Given the description of an element on the screen output the (x, y) to click on. 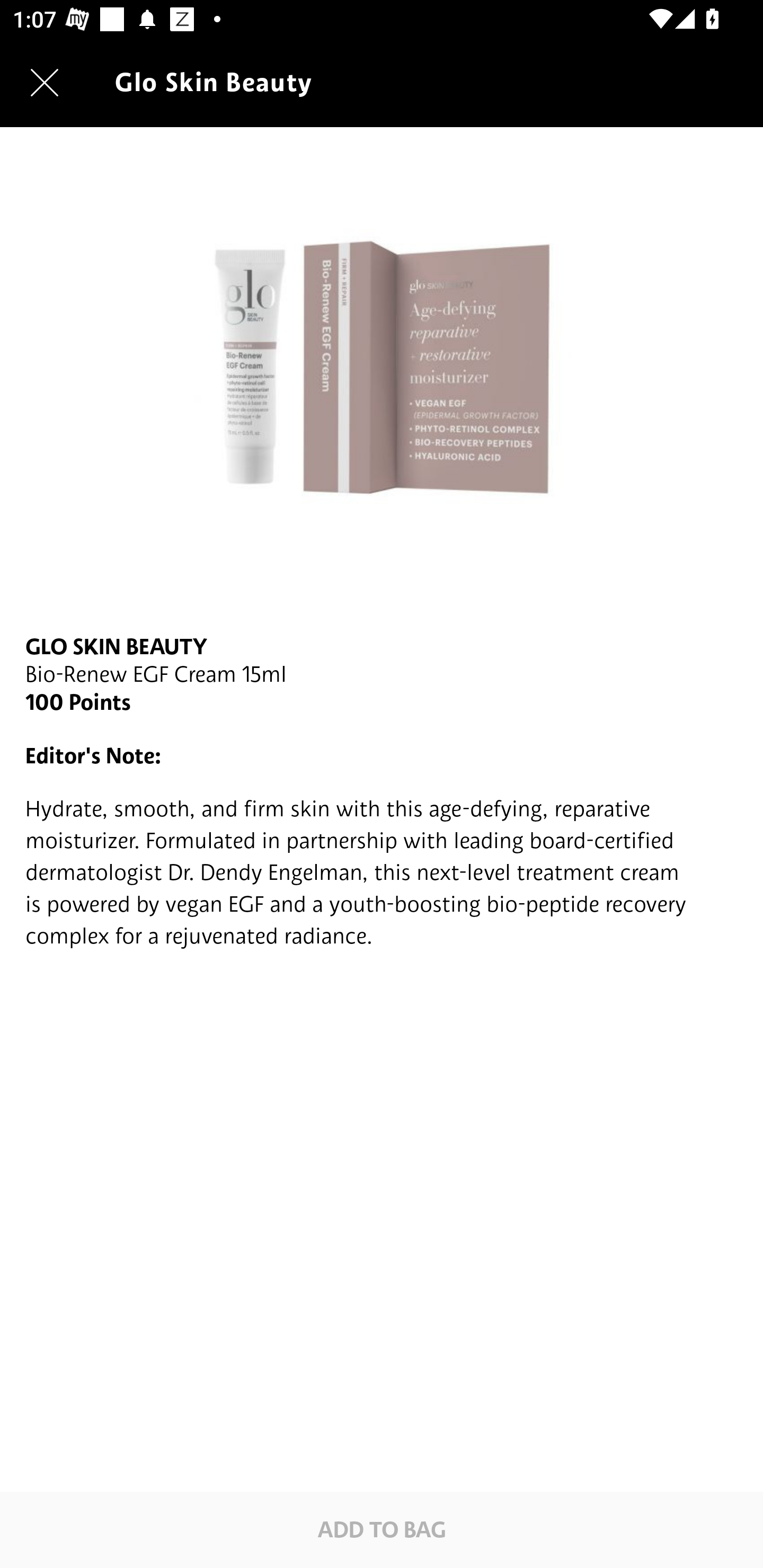
ADD TO BAG (381, 1529)
